Given the description of an element on the screen output the (x, y) to click on. 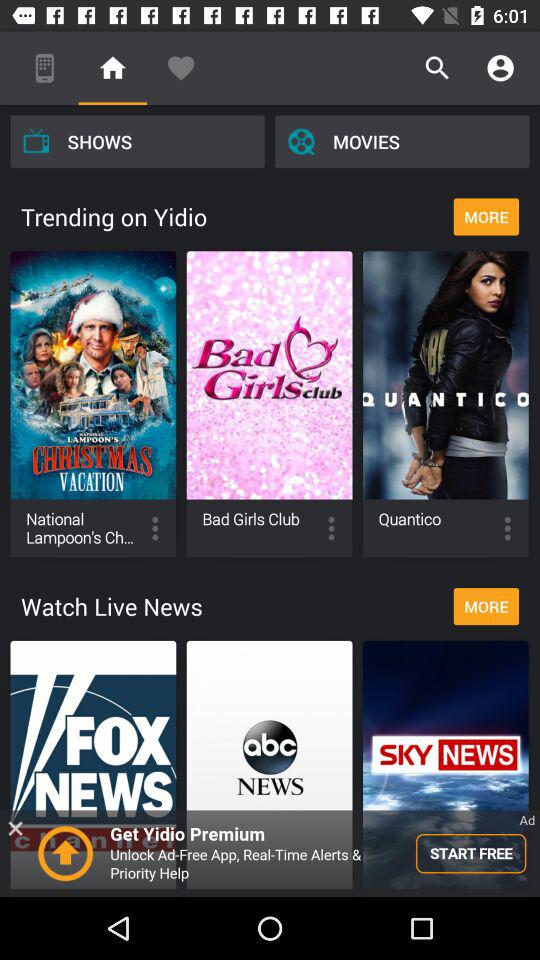
turn on icon to the left of the movies icon (137, 141)
